Given the description of an element on the screen output the (x, y) to click on. 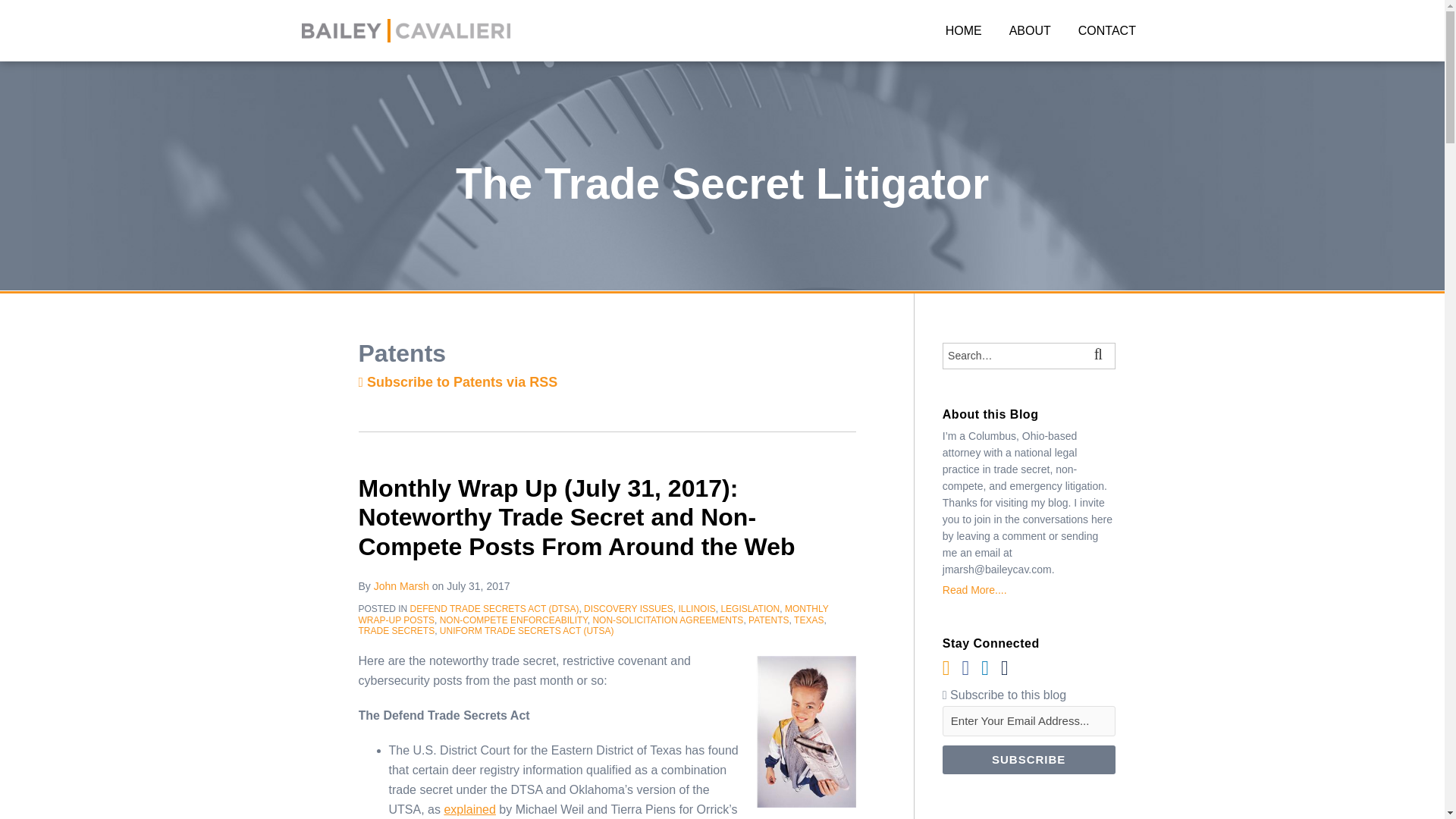
NON-SOLICITATION AGREEMENTS (667, 620)
Subscribe (1028, 759)
The Trade Secret Litigator (721, 183)
LEGISLATION (749, 608)
Subscribe to Patents via RSS (457, 381)
CONTACT (1106, 31)
John Marsh (401, 585)
explained (470, 809)
TEXAS (808, 620)
TRADE SECRETS (395, 630)
